Given the description of an element on the screen output the (x, y) to click on. 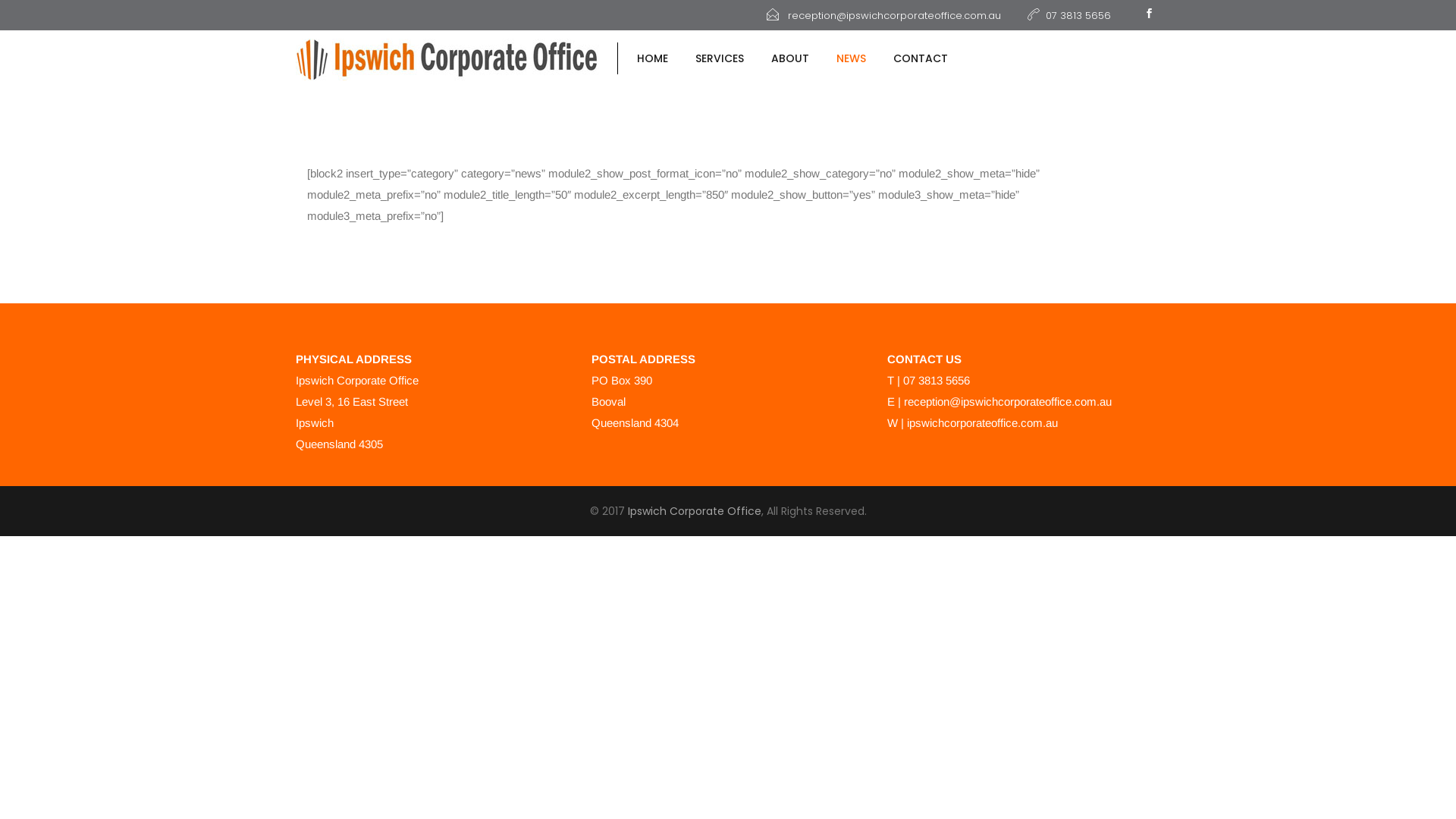
Facebook Element type: hover (1148, 15)
Ipswich Corporate Office Element type: text (694, 510)
HOME Element type: text (652, 58)
SERVICES Element type: text (719, 58)
ABOUT Element type: text (789, 58)
reception@ipswichcorporateoffice.com.au Element type: text (1007, 401)
reception@ipswichcorporateoffice.com.au Element type: text (883, 15)
NEWS Element type: text (850, 58)
CONTACT Element type: text (913, 58)
07 3813 5656 Element type: text (1068, 15)
